Given the description of an element on the screen output the (x, y) to click on. 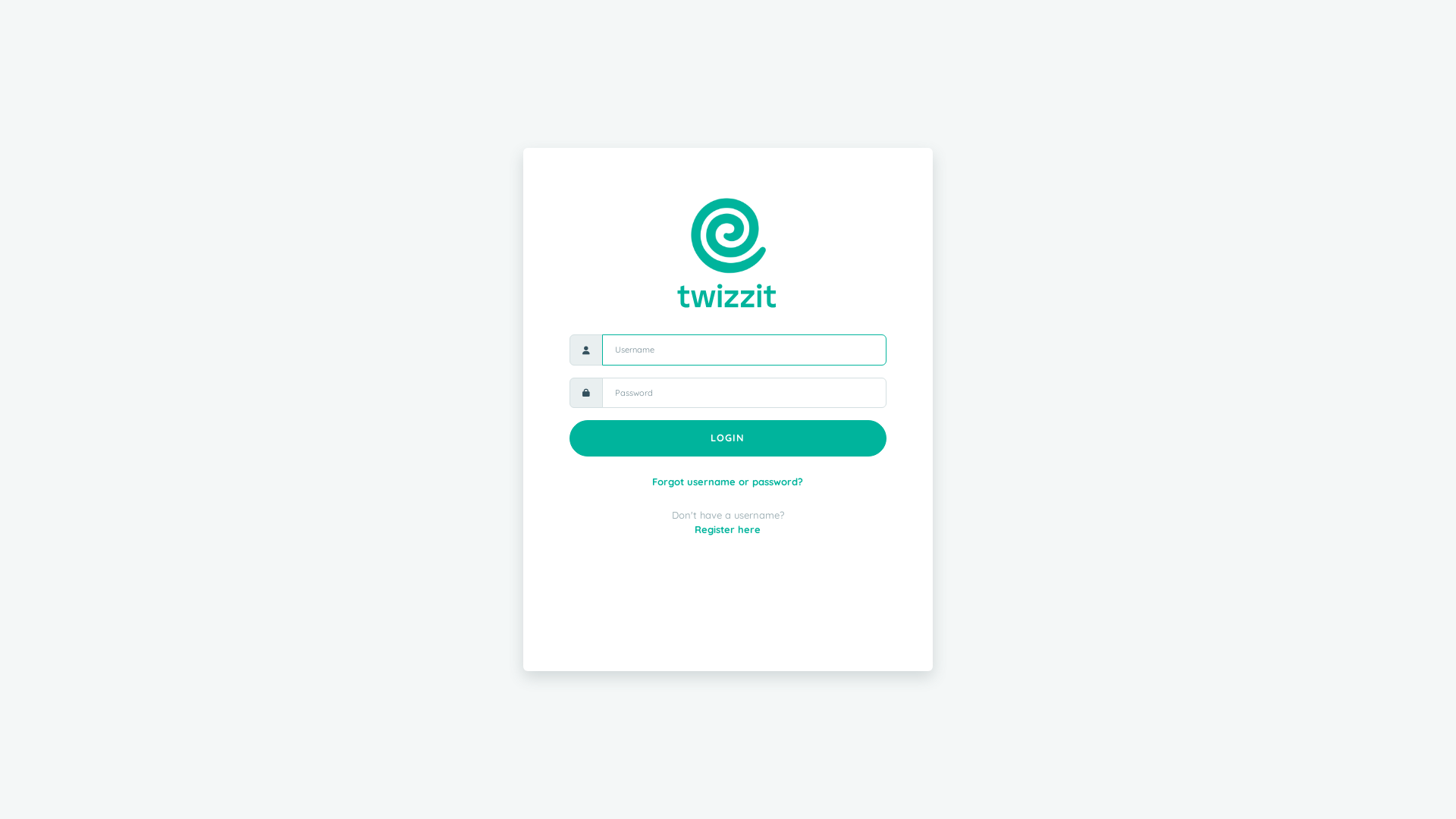
LOGIN Element type: text (727, 438)
Register here Element type: text (727, 529)
Forgot username or password? Element type: text (727, 481)
